Given the description of an element on the screen output the (x, y) to click on. 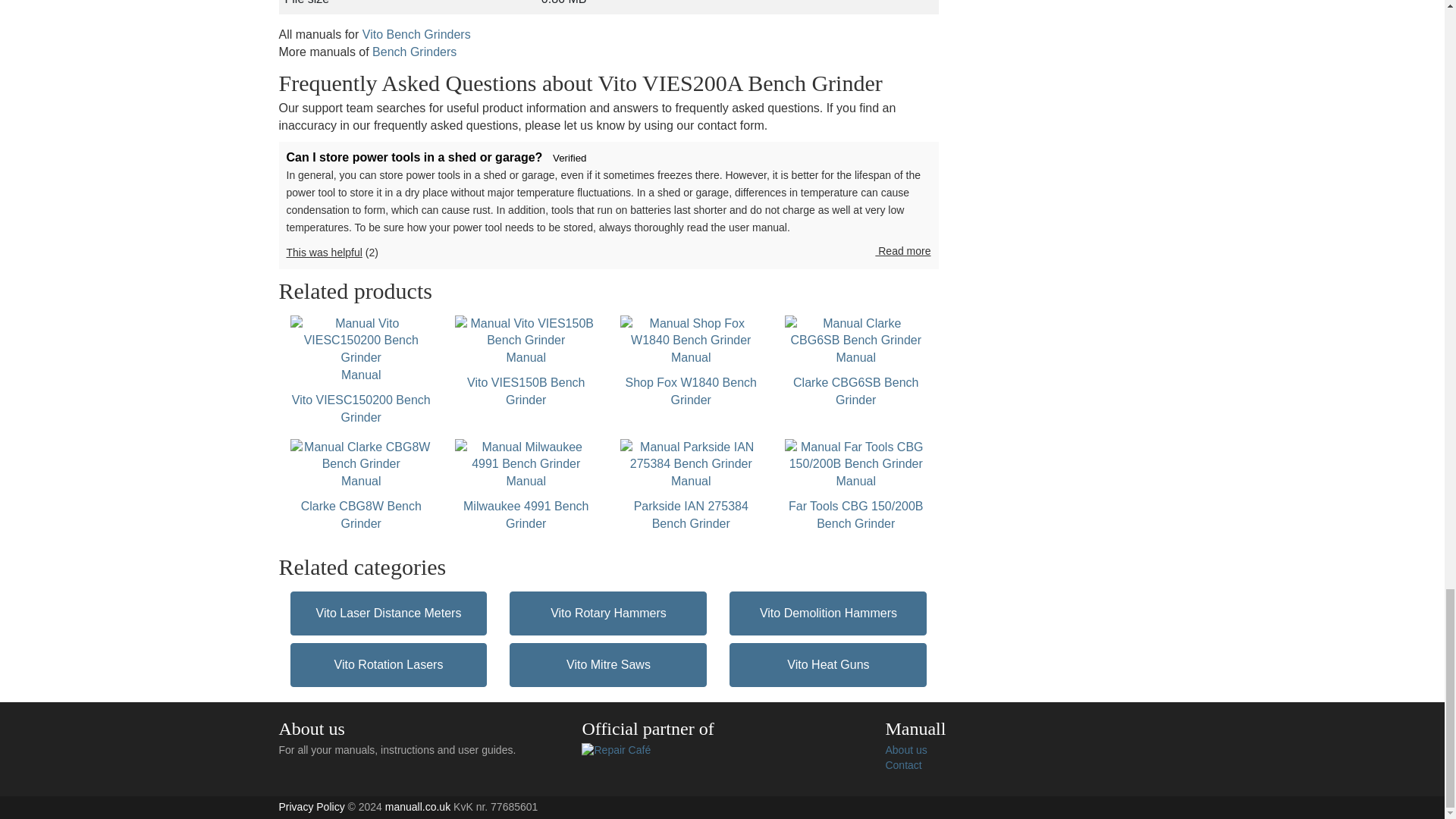
Vito Mitre Saws (607, 664)
Manual Vito VIESC150200 Bench Grinder (360, 370)
Vito Heat Guns (827, 664)
Manual Shop Fox W1840 Bench Grinder (691, 362)
Vito Bench Grinders (416, 33)
Manual Clarke CBG8W Bench Grinder (691, 485)
Vito Bench Grinders (360, 485)
Vito Rotation Lasers (691, 362)
